Given the description of an element on the screen output the (x, y) to click on. 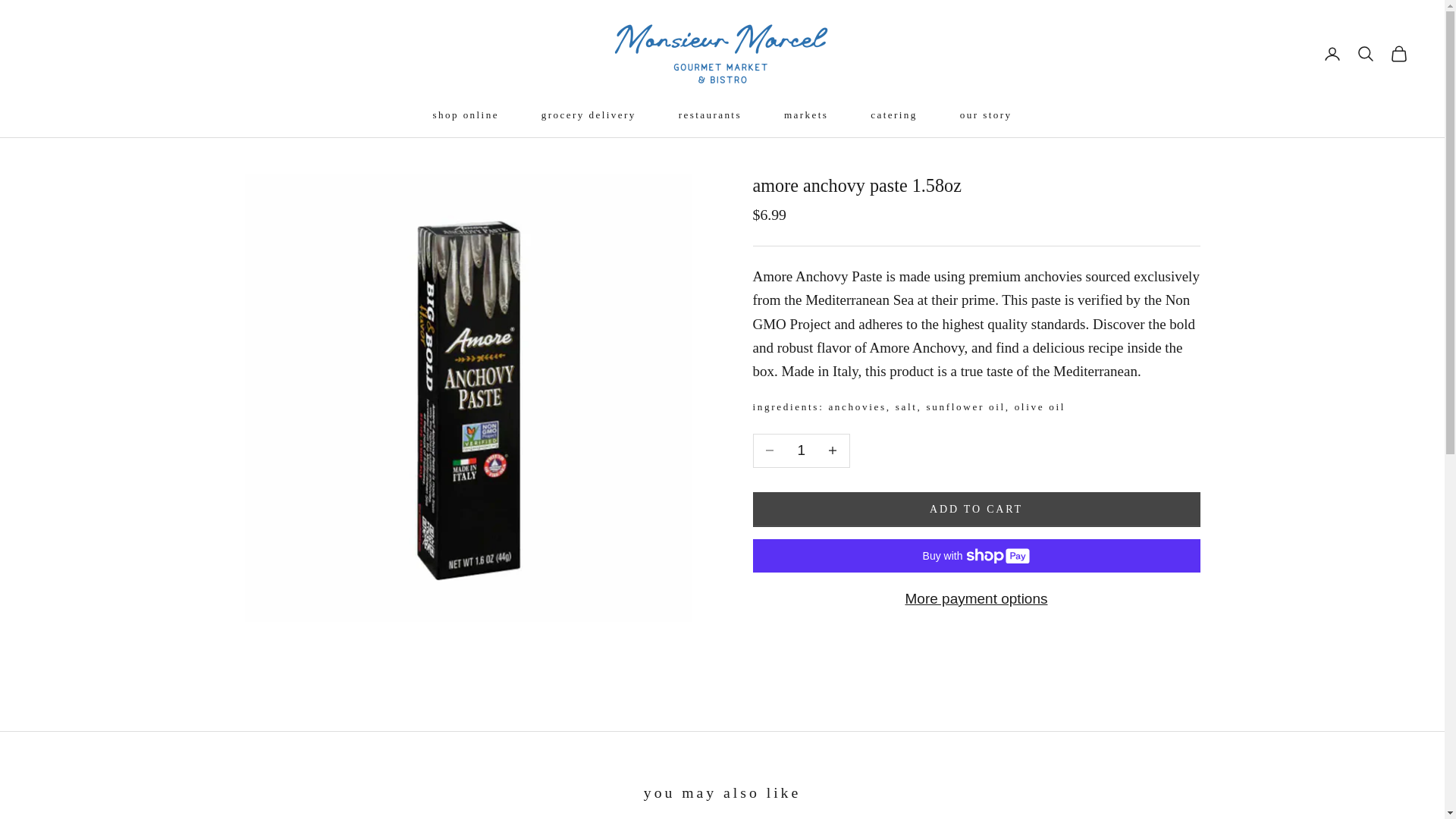
1 (801, 450)
monsieur marcel gourmet market (721, 53)
grocery delivery (588, 115)
